Given the description of an element on the screen output the (x, y) to click on. 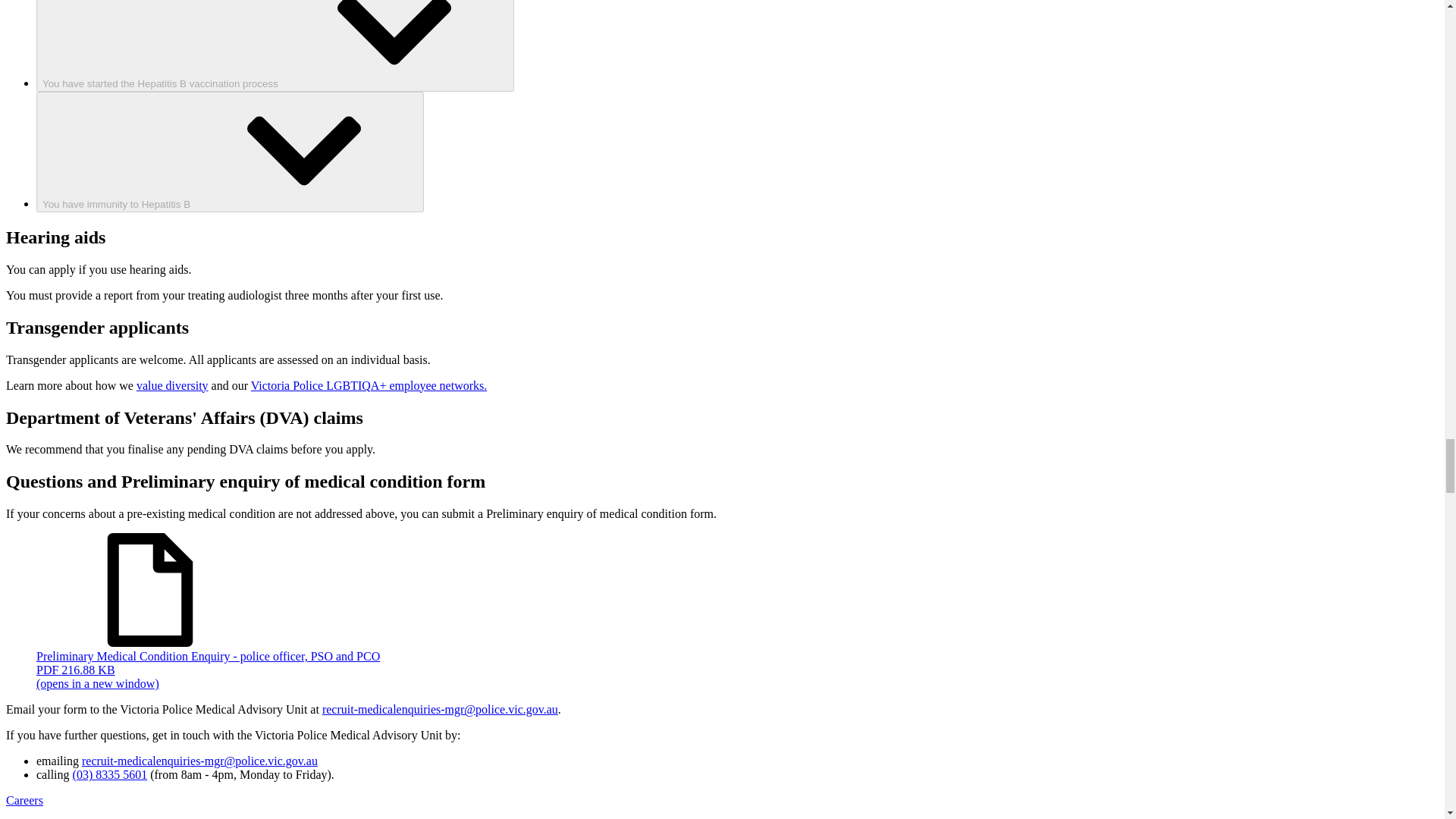
Valuing diversity (172, 385)
